Given the description of an element on the screen output the (x, y) to click on. 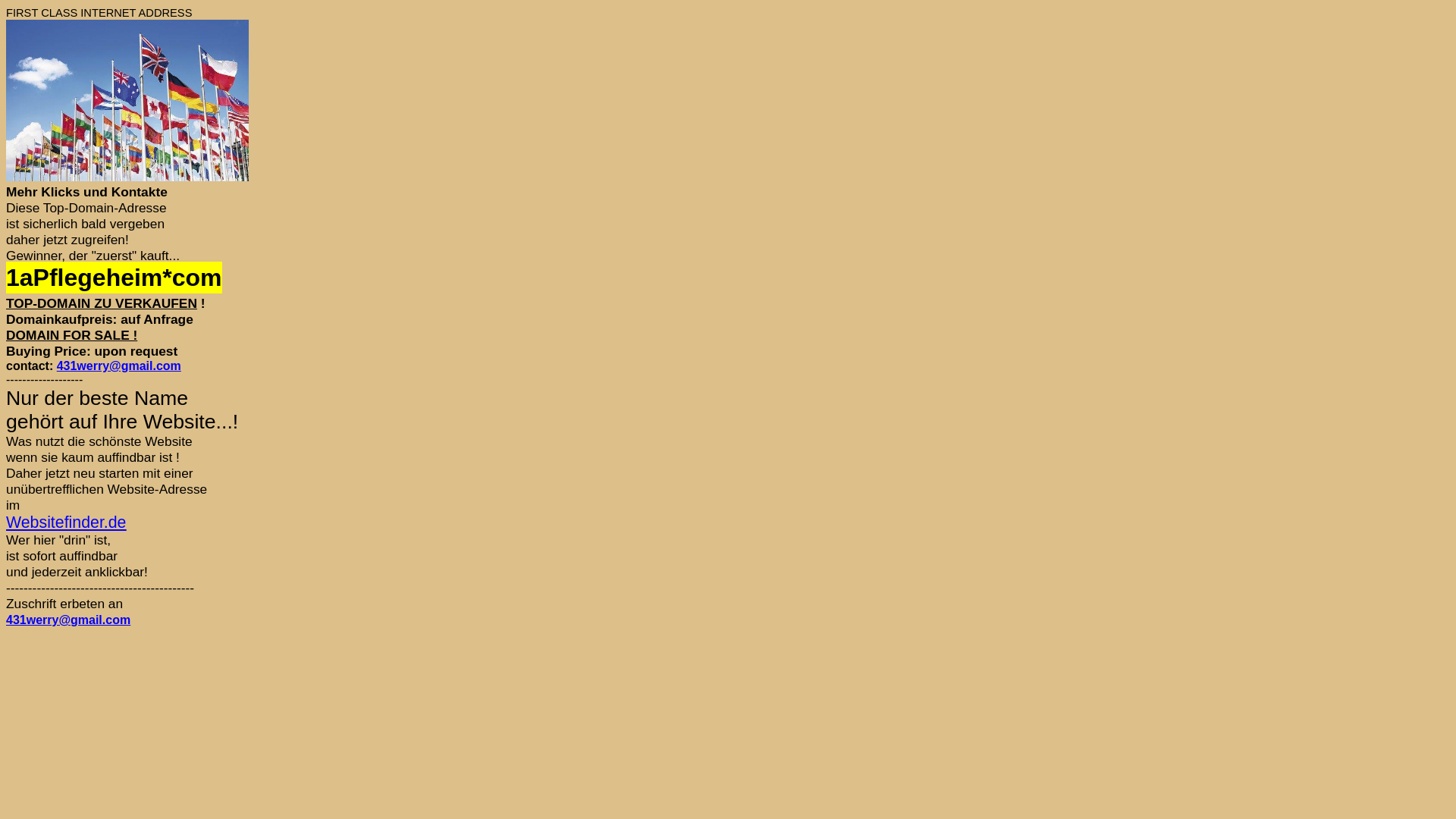
431werry@gmail.com Element type: text (68, 619)
431werry@gmail.com Element type: text (118, 365)
Websitefinder.de Element type: text (65, 522)
